Given the description of an element on the screen output the (x, y) to click on. 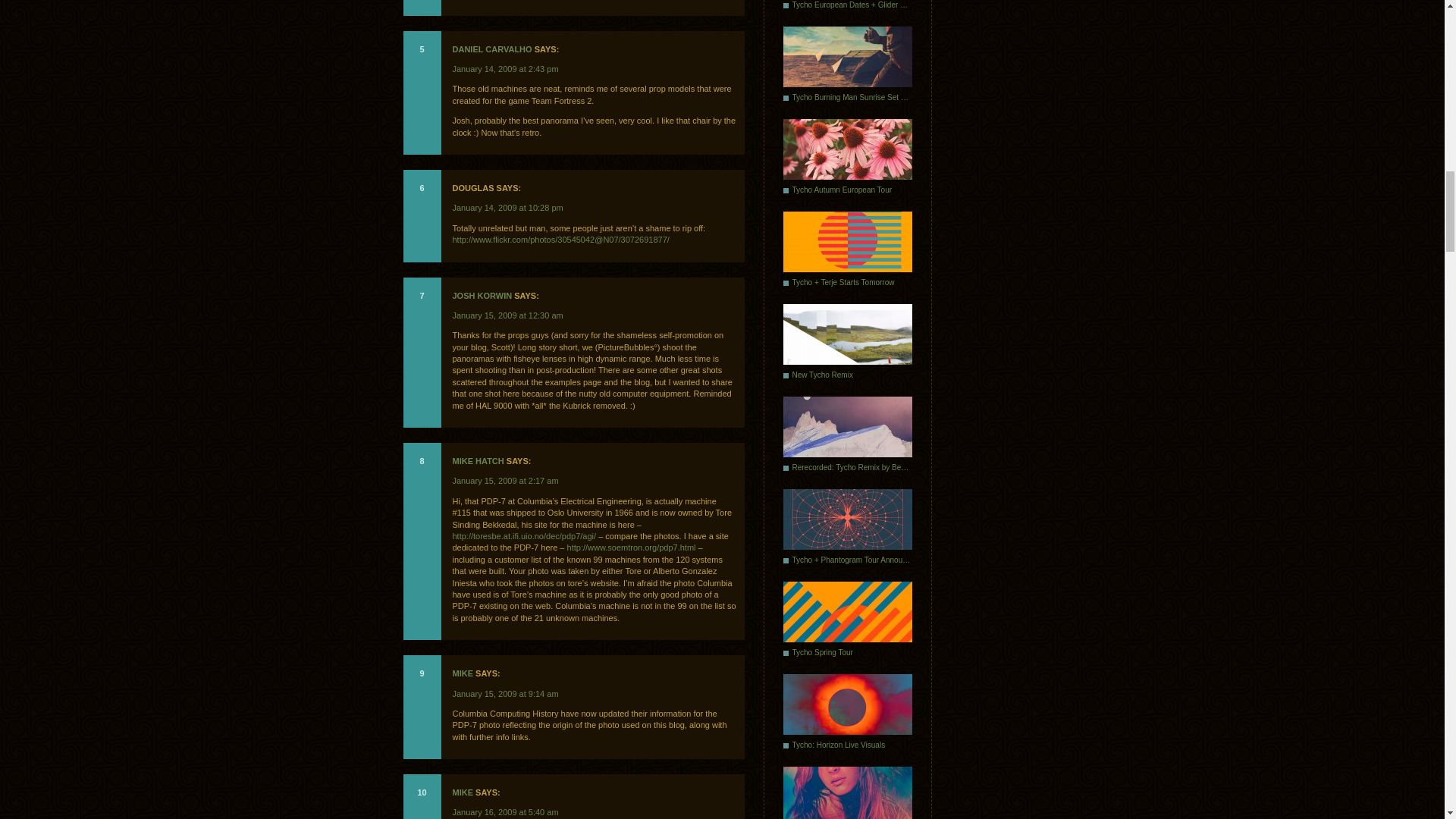
January 14, 2009 at 2:43 pm (504, 68)
DANIEL CARVALHO (491, 49)
